Given the description of an element on the screen output the (x, y) to click on. 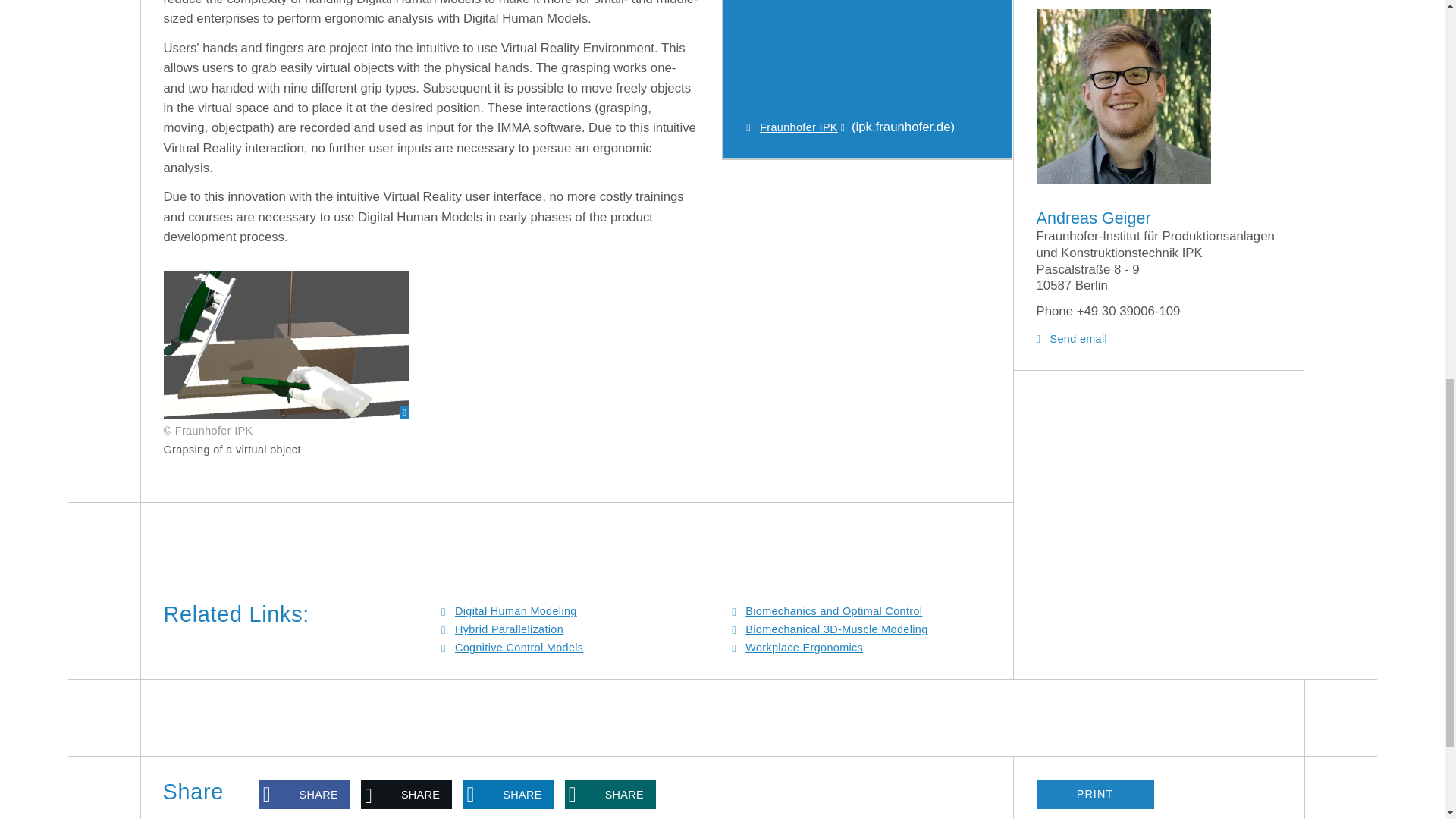
Share on X (406, 794)
Share on XING (610, 794)
Share on Facebook (304, 794)
Share on LinkedIn (508, 794)
